Given the description of an element on the screen output the (x, y) to click on. 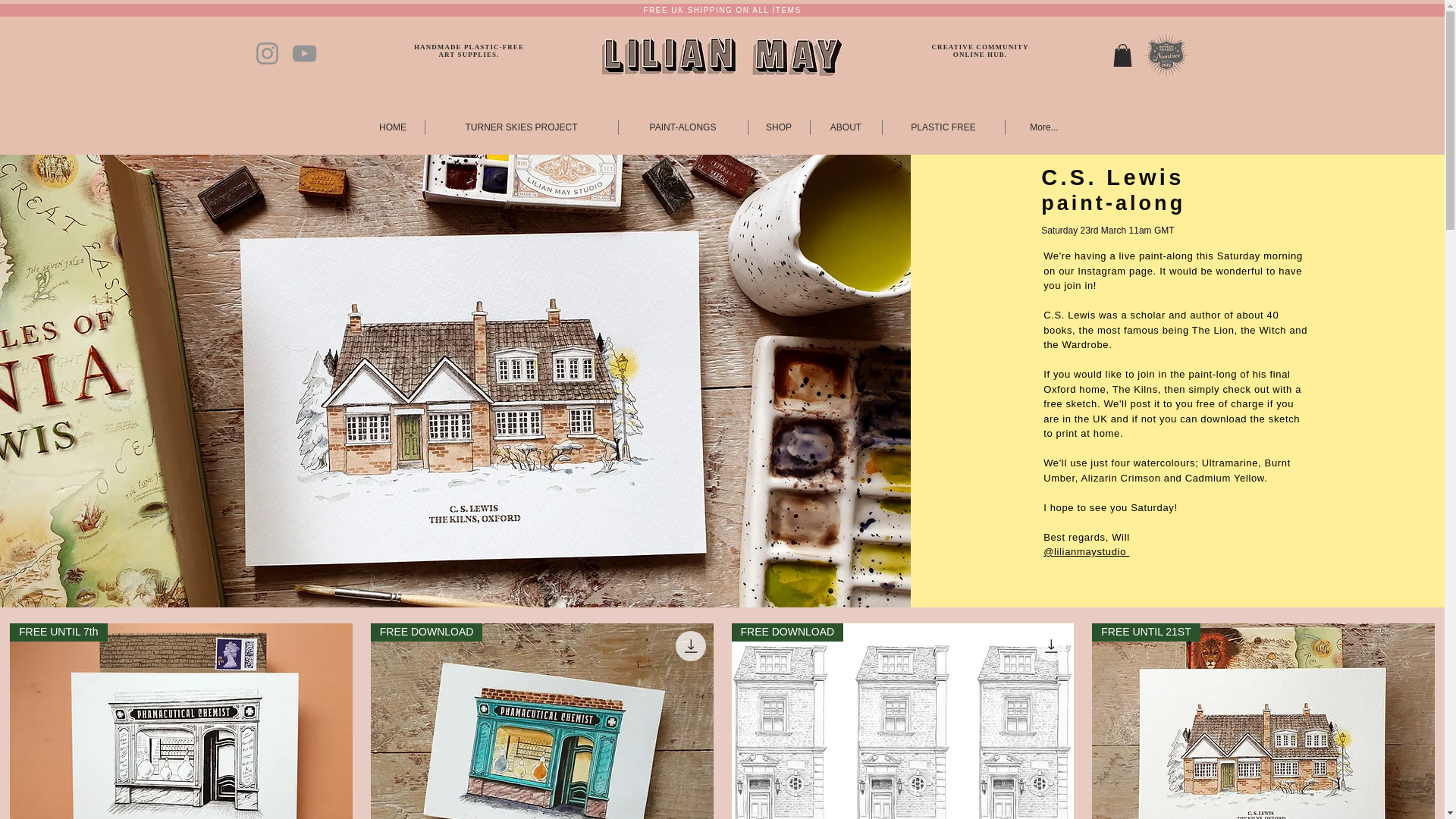
SHOP (778, 127)
FREE UNTIL 21ST (1262, 721)
PAINT-ALONGS (683, 127)
HOME (392, 127)
FREE UNTIL 7th (180, 721)
FREE DOWNLOAD (541, 721)
PLASTIC FREE (943, 127)
TURNER SKIES PROJECT (521, 127)
ABOUT (844, 127)
The Lion, the Witch and the Wardrobe (1175, 337)
